Given the description of an element on the screen output the (x, y) to click on. 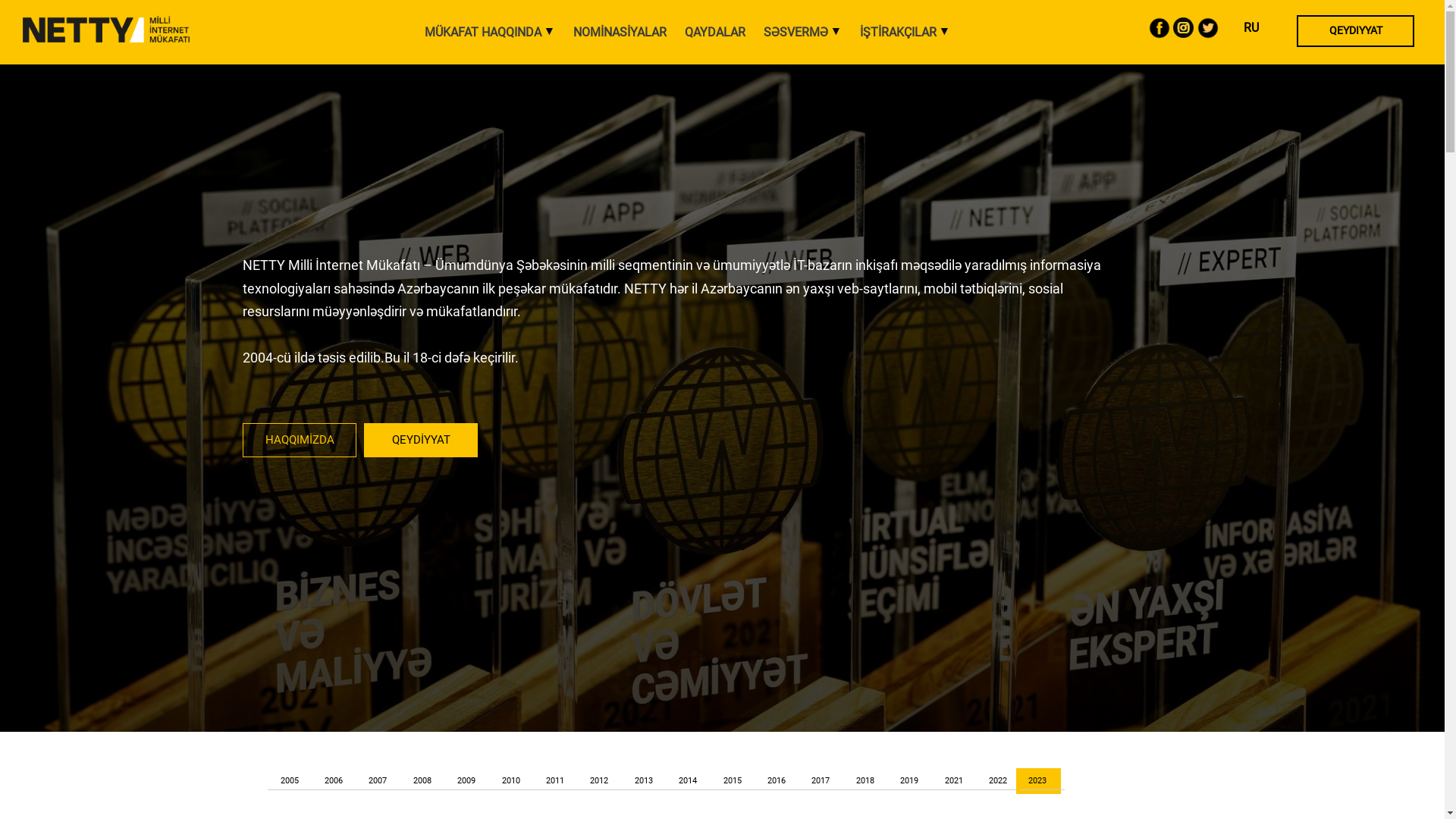
2010 Element type: text (510, 780)
2021 Element type: text (953, 780)
2019 Element type: text (909, 780)
2009 Element type: text (466, 780)
QEYDIYYAT Element type: text (1355, 30)
2011 Element type: text (555, 780)
2005 Element type: text (288, 780)
2017 Element type: text (820, 780)
RU Element type: text (1250, 27)
2013 Element type: text (643, 780)
2008 Element type: text (422, 780)
2023     Element type: text (1041, 780)
2022 Element type: text (997, 780)
2014 Element type: text (687, 780)
2018 Element type: text (865, 780)
2016 Element type: text (776, 780)
QAYDALAR Element type: text (713, 32)
2006 Element type: text (333, 780)
2012 Element type: text (599, 780)
2015 Element type: text (731, 780)
2007 Element type: text (377, 780)
